Given the description of an element on the screen output the (x, y) to click on. 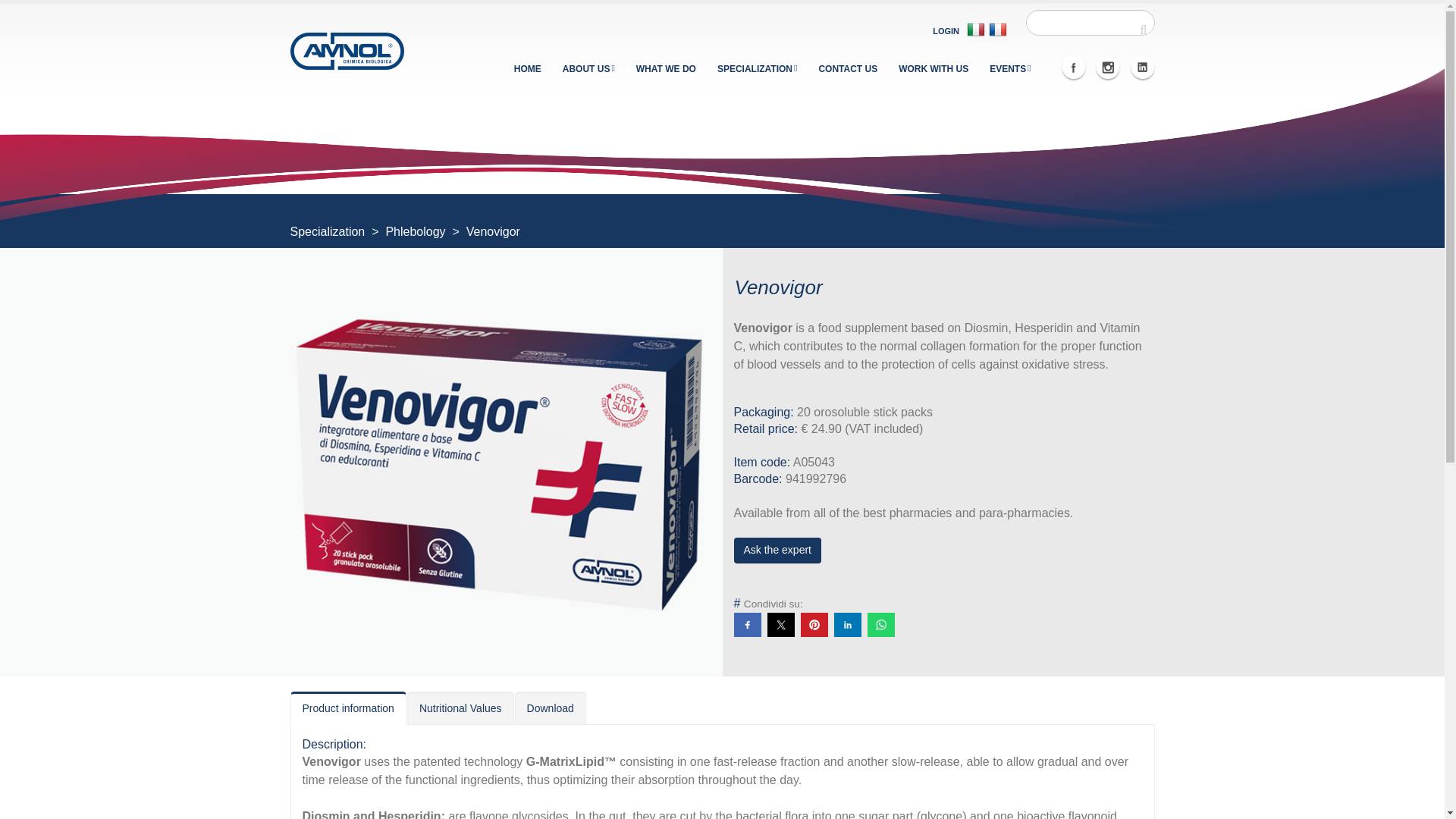
HOME (527, 69)
AMNOL website (346, 49)
Instagram (1107, 67)
Linkedin (1142, 67)
Product information (347, 707)
Download (550, 707)
CONTACT US (847, 69)
Ask the expert (777, 550)
Instagram (1107, 67)
WORK WITH US (933, 69)
Phlebology (416, 231)
SPECIALIZATION (757, 69)
LOGIN (946, 31)
Login (946, 31)
WHAT WE DO (666, 69)
